Given the description of an element on the screen output the (x, y) to click on. 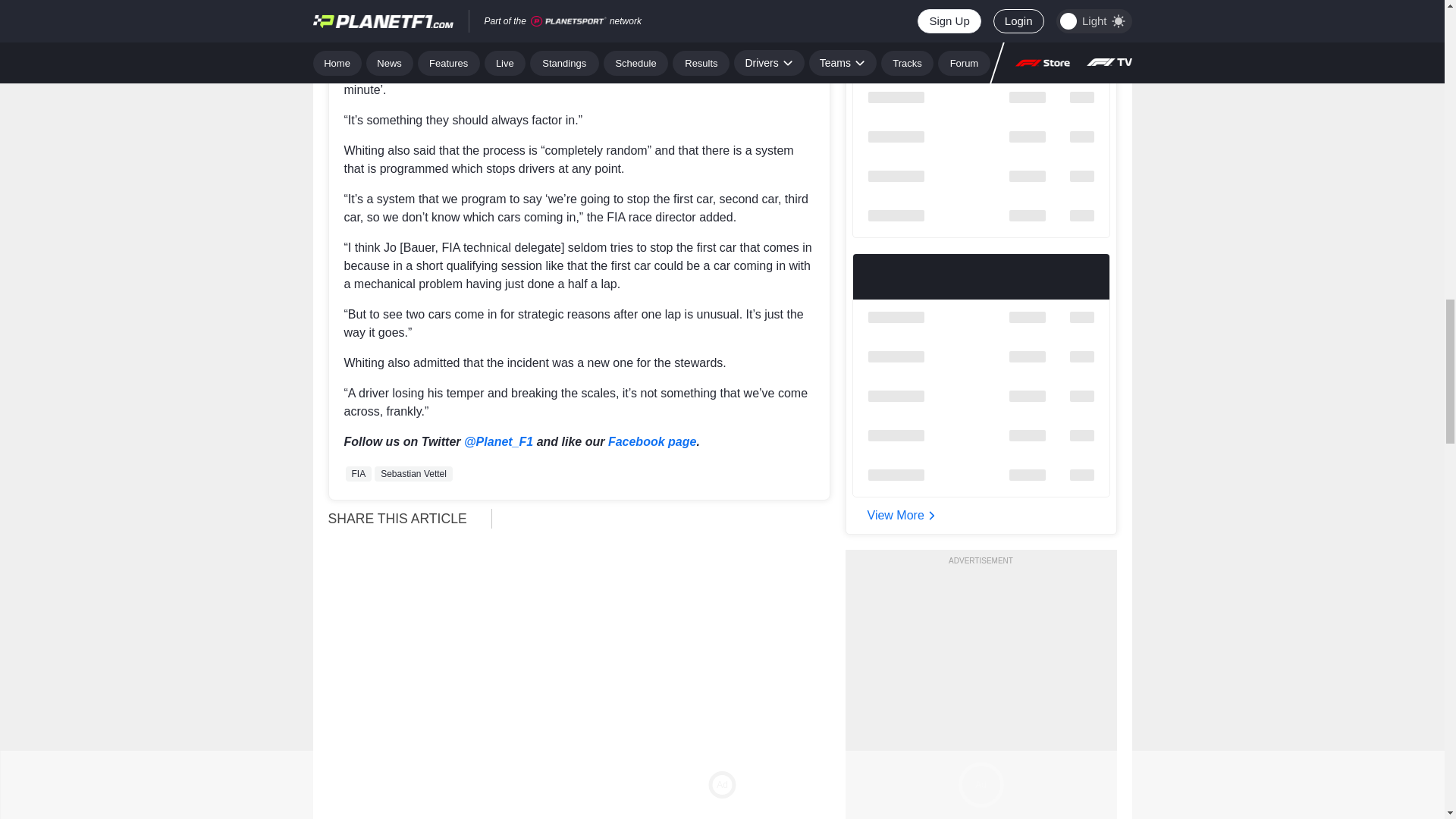
Vuukle Comments Widget (578, 811)
Vuukle Sharebar Widget (666, 517)
